Given the description of an element on the screen output the (x, y) to click on. 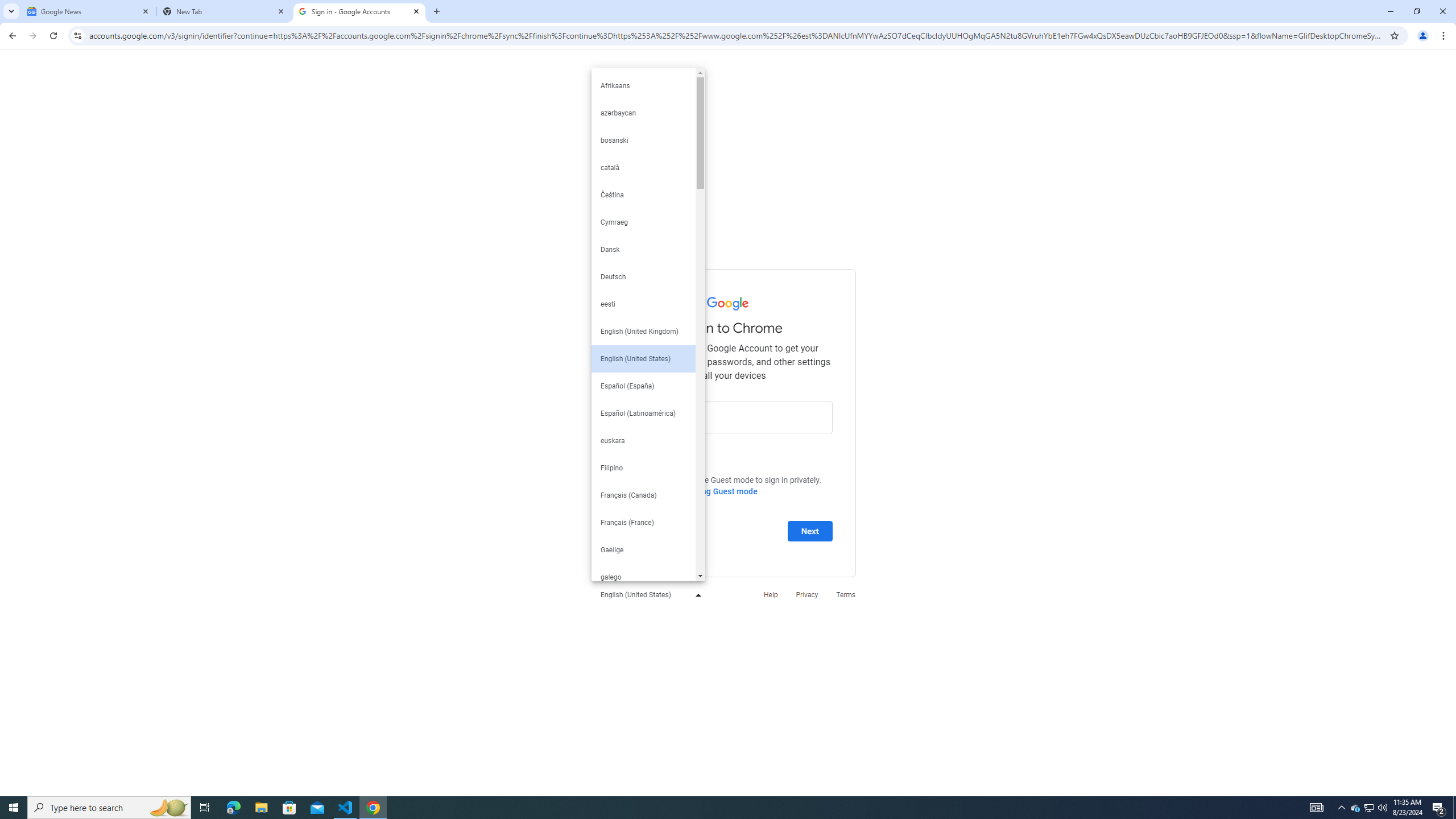
Learn more about using Guest mode (689, 491)
euskara (643, 440)
galego (643, 577)
